Given the description of an element on the screen output the (x, y) to click on. 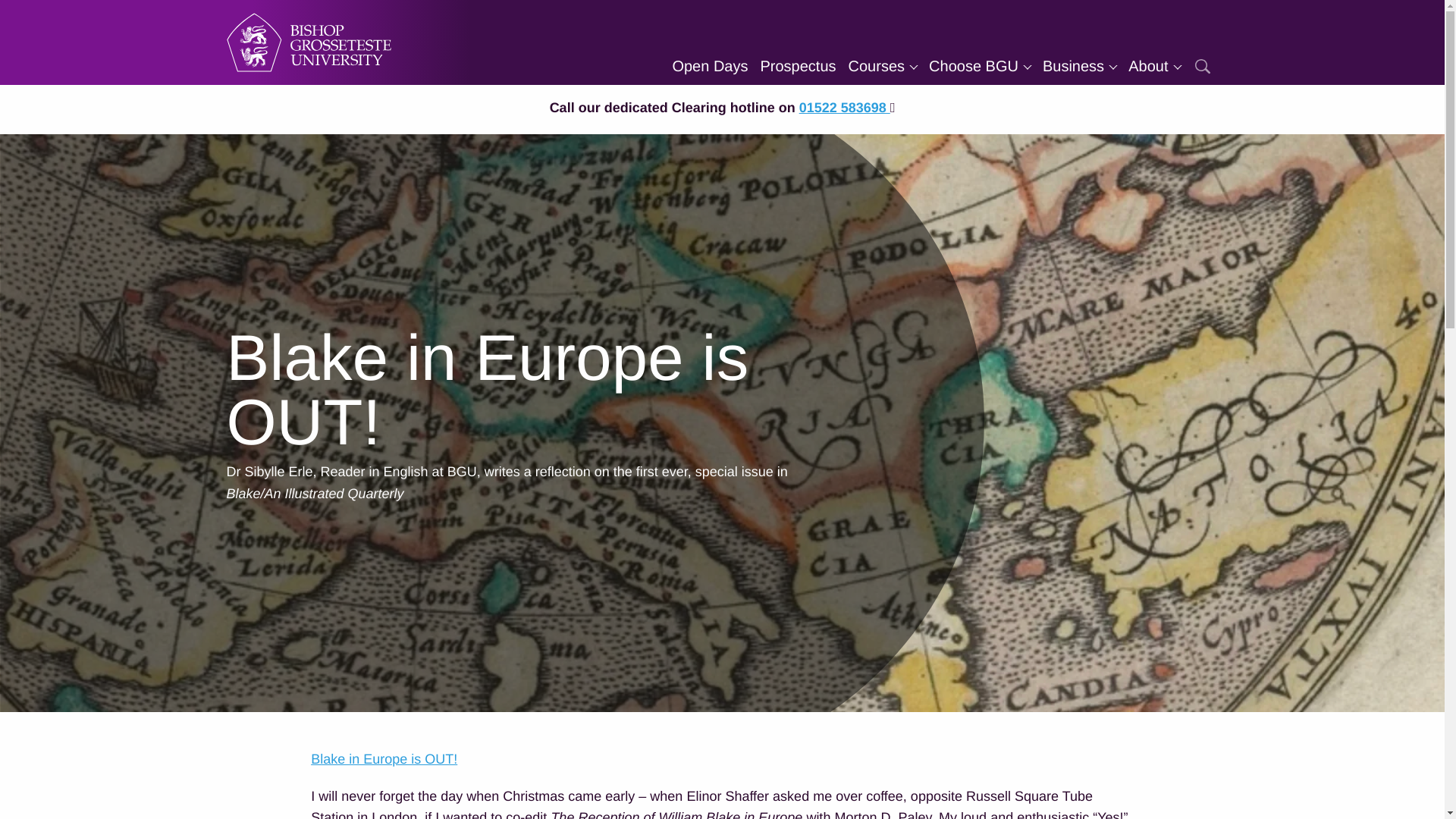
Prospectus (797, 66)
Choose BGU (979, 66)
Return to homepage (307, 42)
Search (1201, 66)
Courses (883, 66)
Open Days (709, 66)
